Given the description of an element on the screen output the (x, y) to click on. 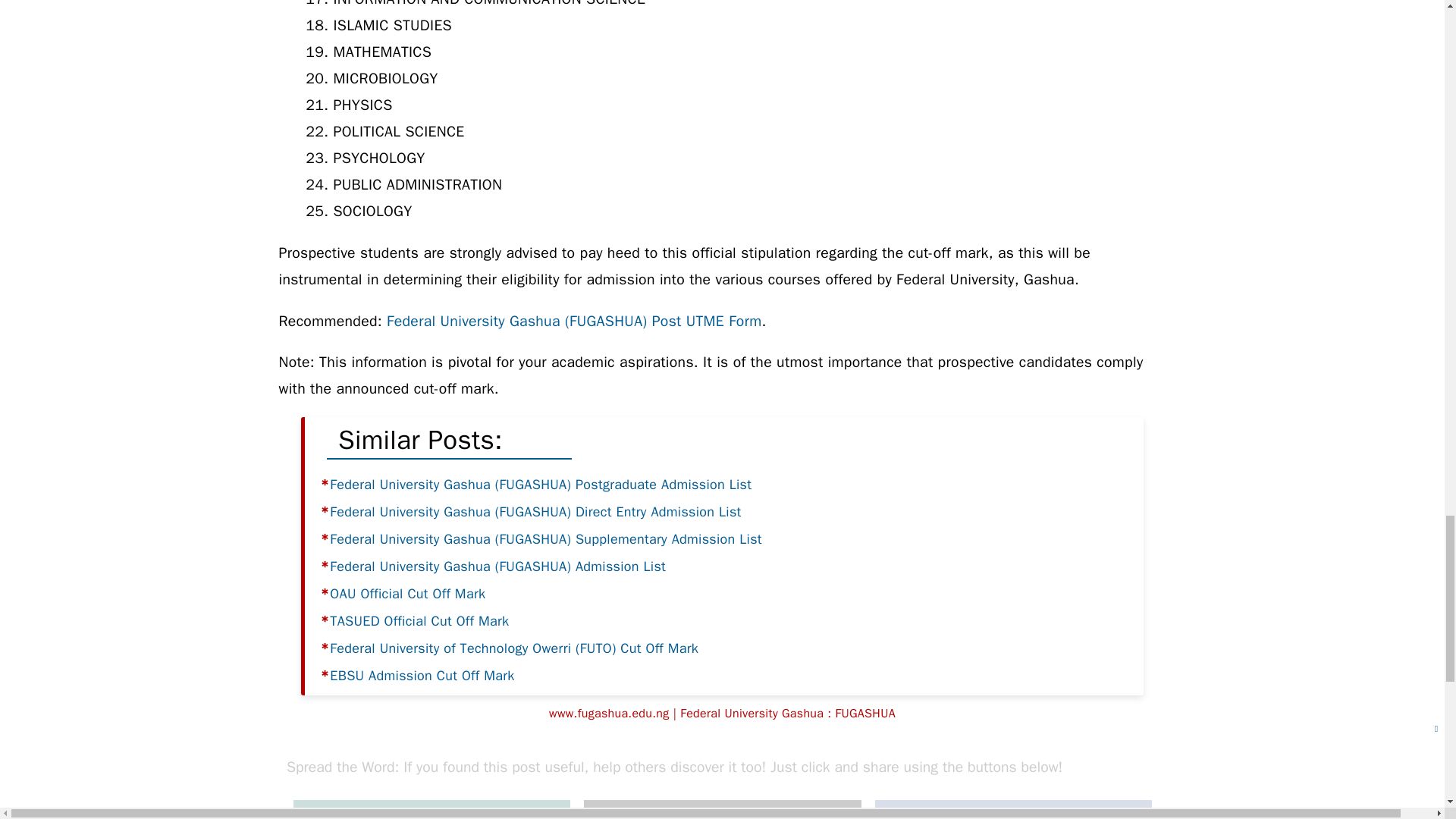
OAU Official Cut Off Mark (407, 593)
About (654, 811)
Privacy Policy (804, 813)
Tweet (722, 809)
Whatsapp (431, 809)
Share (1012, 809)
EBSU Admission Cut Off Mark (421, 675)
TASUED Official Cut Off Mark (419, 620)
Home (604, 811)
Share on Facebook! (1012, 809)
Repost this on X! (722, 809)
Disclaimer (717, 811)
